Given the description of an element on the screen output the (x, y) to click on. 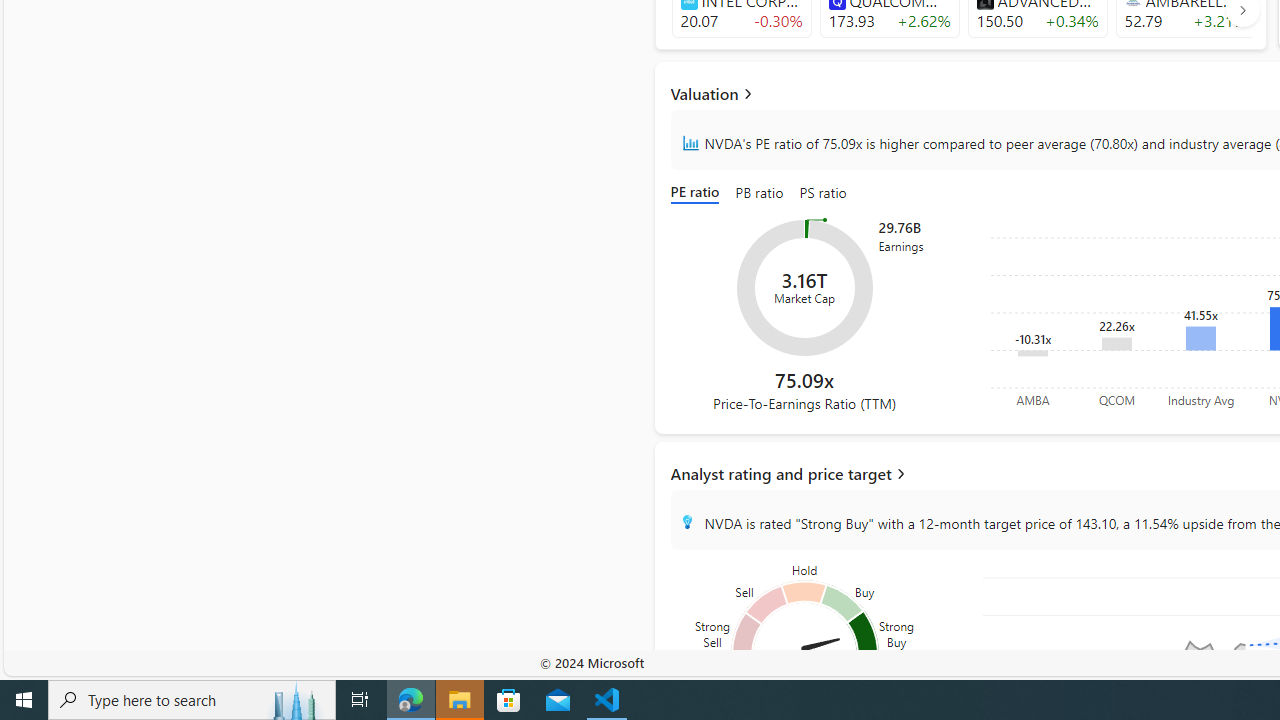
PB ratio (759, 193)
PS ratio (823, 193)
PE ratio (698, 193)
AutomationID: finance_carousel_navi_arrow (1242, 10)
Class: recharts-surface (804, 287)
